Given the description of an element on the screen output the (x, y) to click on. 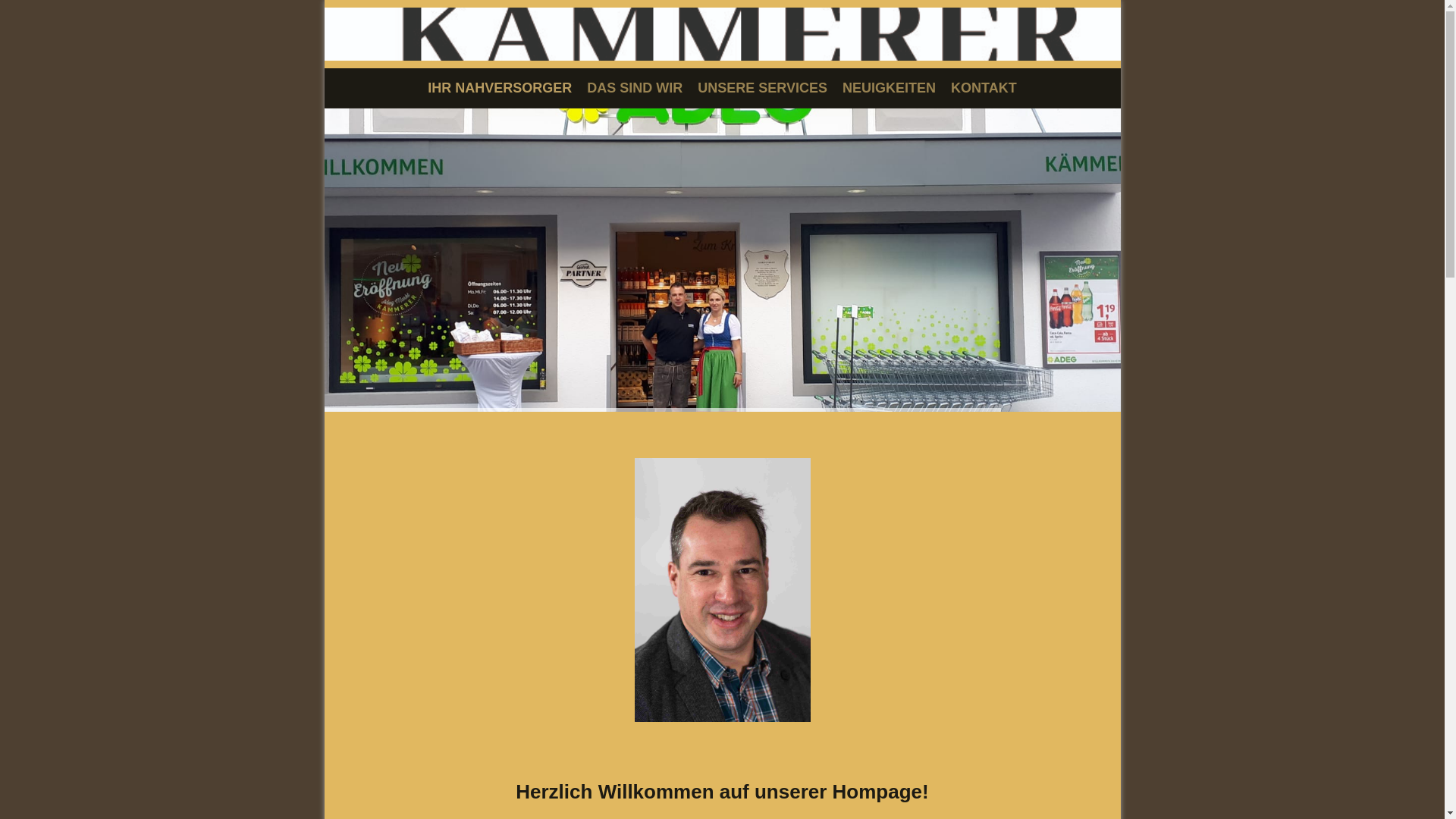
KONTAKT Element type: text (983, 88)
NEUIGKEITEN Element type: text (888, 88)
UNSERE SERVICES Element type: text (762, 88)
IHR NAHVERSORGER Element type: text (499, 88)
  Element type: text (722, 12)
DAS SIND WIR Element type: text (634, 88)
